Given the description of an element on the screen output the (x, y) to click on. 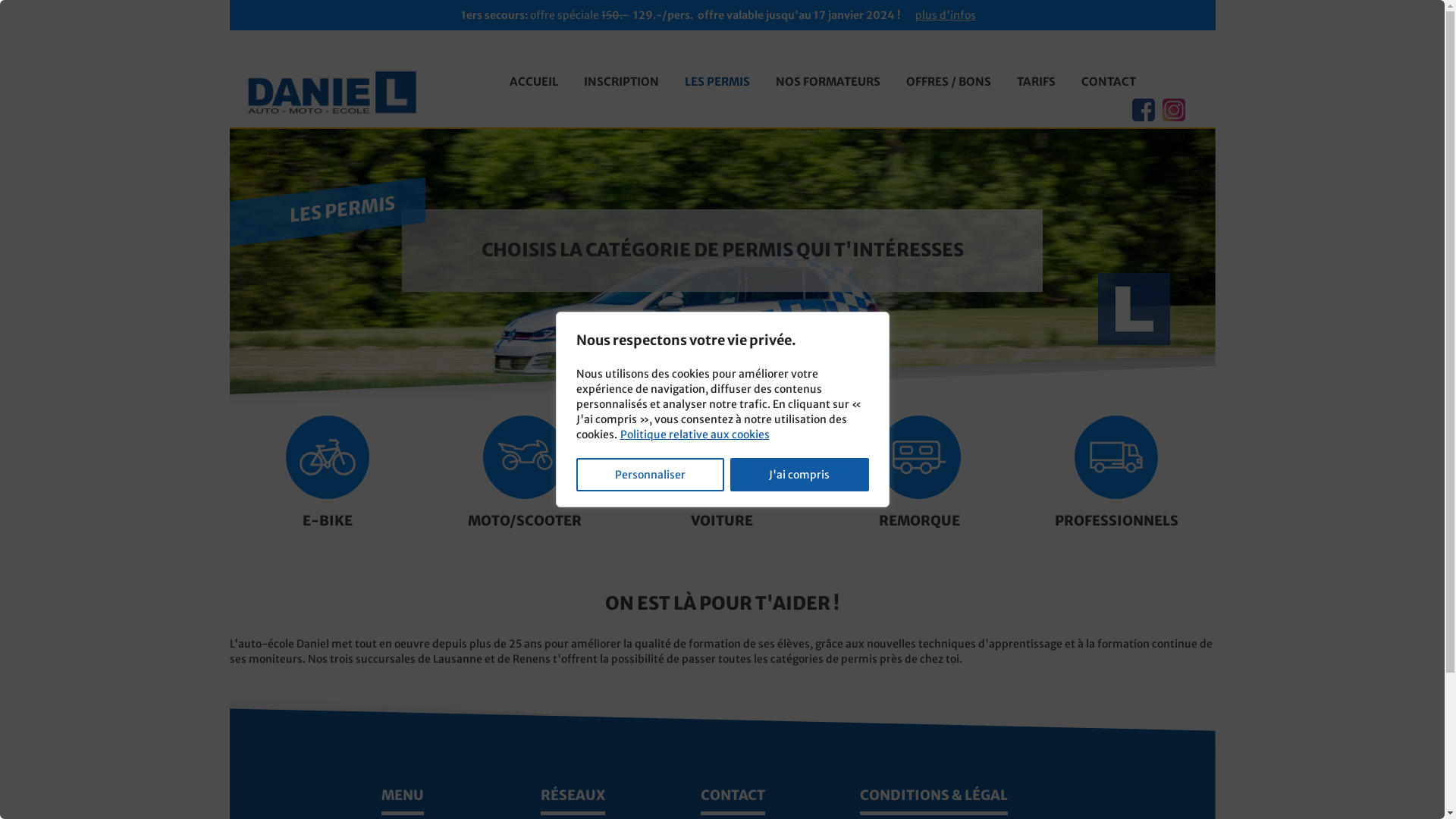
Personnaliser Element type: text (650, 474)
Facebook Element type: hover (1142, 109)
Politique relative aux cookies Element type: text (693, 434)
ACCUEIL Element type: text (532, 81)
CONTACT Element type: text (1107, 81)
PROFESSIONNELS Element type: text (1116, 478)
plus d'infos Element type: text (945, 14)
LES PERMIS Element type: text (717, 81)
OFFRES / BONS Element type: text (948, 81)
E-BIKE Element type: text (327, 478)
INSCRIPTION Element type: text (620, 81)
TARIFS Element type: text (1035, 81)
J'ai compris Element type: text (799, 474)
MOTO/SCOOTER Element type: text (524, 478)
Instagram Element type: hover (1172, 109)
VOITURE Element type: text (722, 478)
REMORQUE Element type: text (919, 478)
NOS FORMATEURS Element type: text (827, 81)
